Given the description of an element on the screen output the (x, y) to click on. 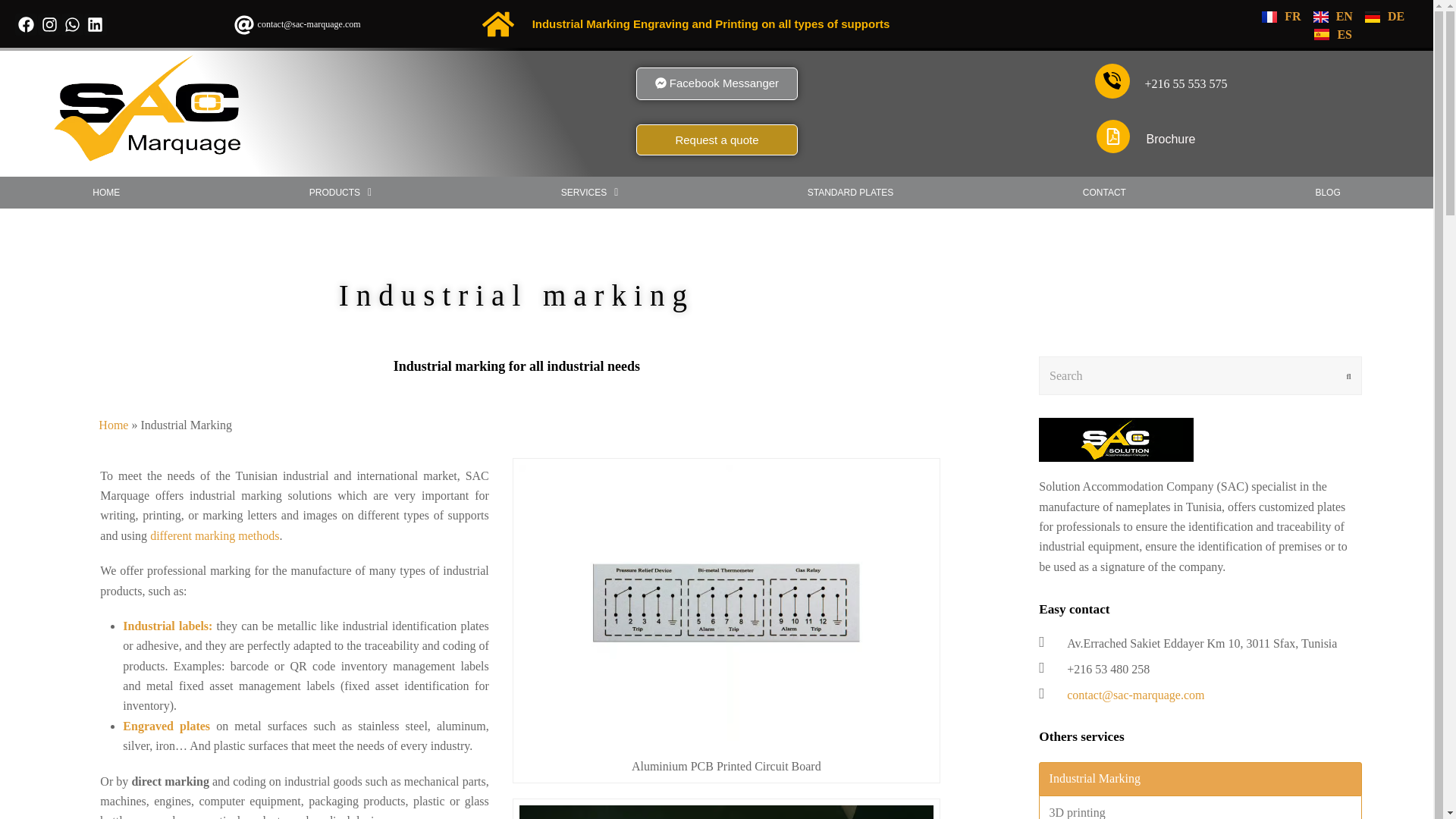
FR (1280, 16)
EN (1332, 16)
DE (1384, 16)
ES (1332, 33)
